Given the description of an element on the screen output the (x, y) to click on. 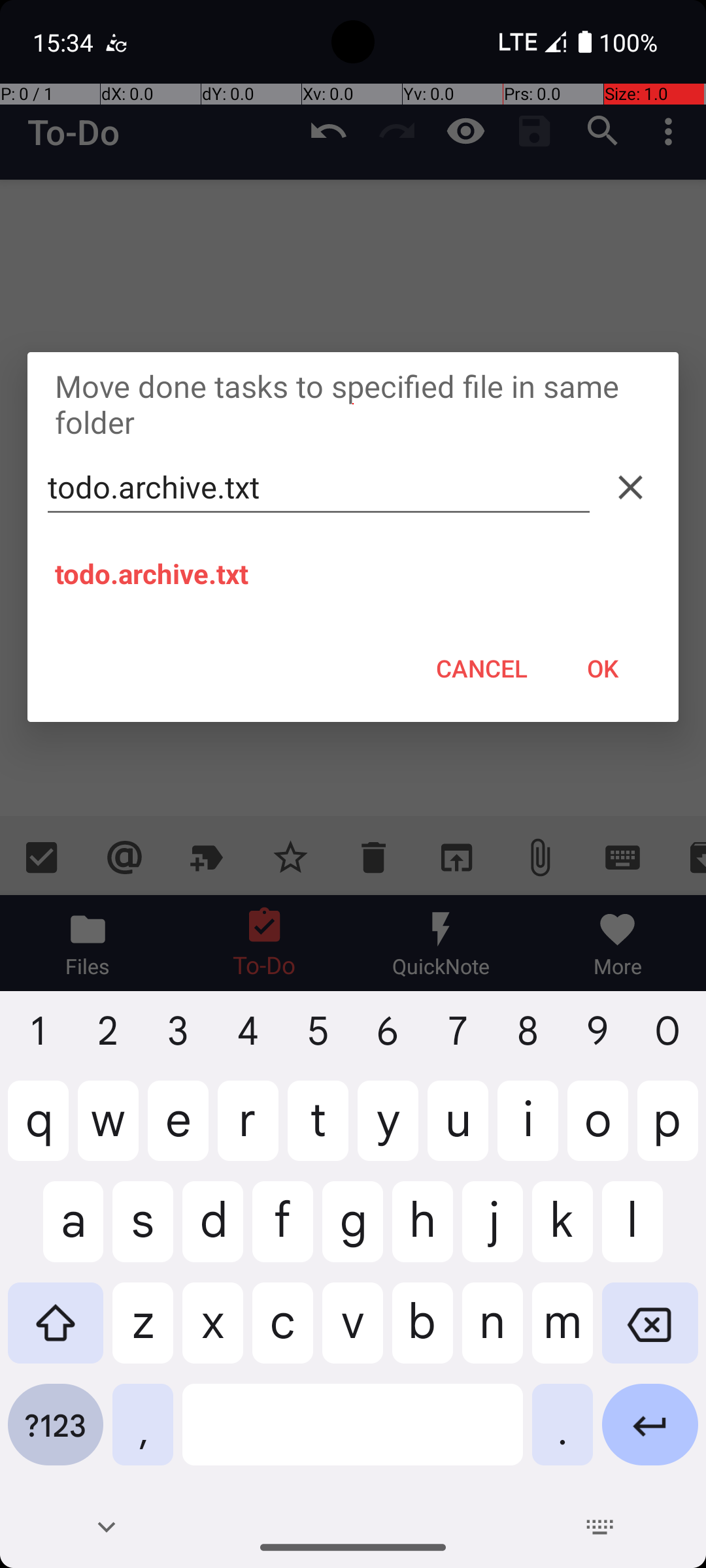
Move done tasks to specified file in same folder Element type: android.widget.TextView (352, 403)
todo.archive.txt Element type: android.widget.EditText (318, 486)
